Given the description of an element on the screen output the (x, y) to click on. 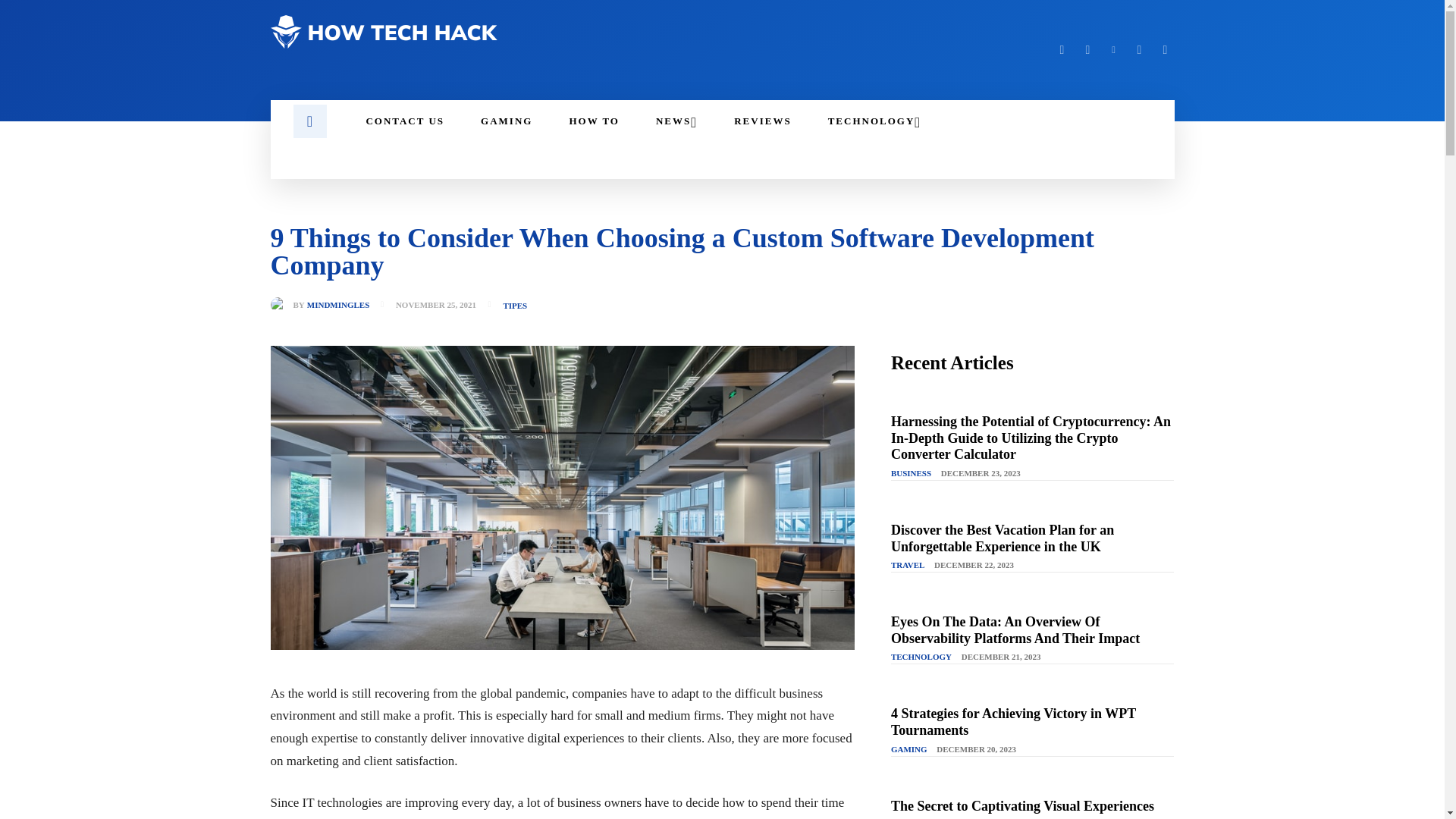
Linkedin (1112, 49)
NEWS (676, 120)
GAMING (506, 120)
Instagram (1087, 49)
Twitter (1138, 49)
mindmingles (280, 304)
CONTACT US (405, 120)
Youtube (1164, 49)
Facebook (1061, 49)
HOW TO (593, 120)
